Given the description of an element on the screen output the (x, y) to click on. 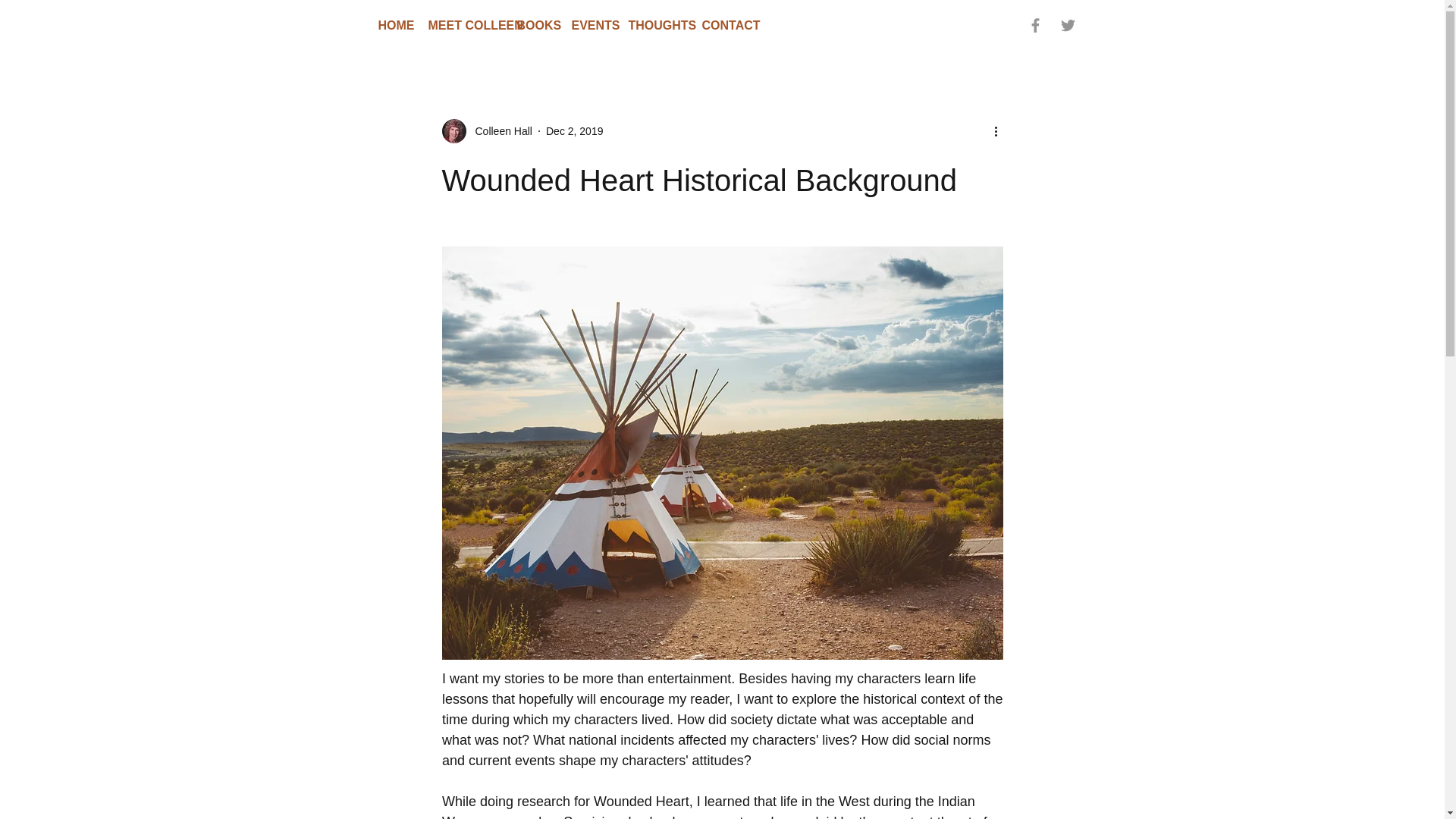
CONTACT (722, 24)
HOME (391, 24)
MEET COLLEEN (460, 24)
Colleen Hall (498, 130)
THOUGHTS (653, 24)
EVENTS (587, 24)
Dec 2, 2019 (575, 130)
BOOKS (532, 24)
